Given the description of an element on the screen output the (x, y) to click on. 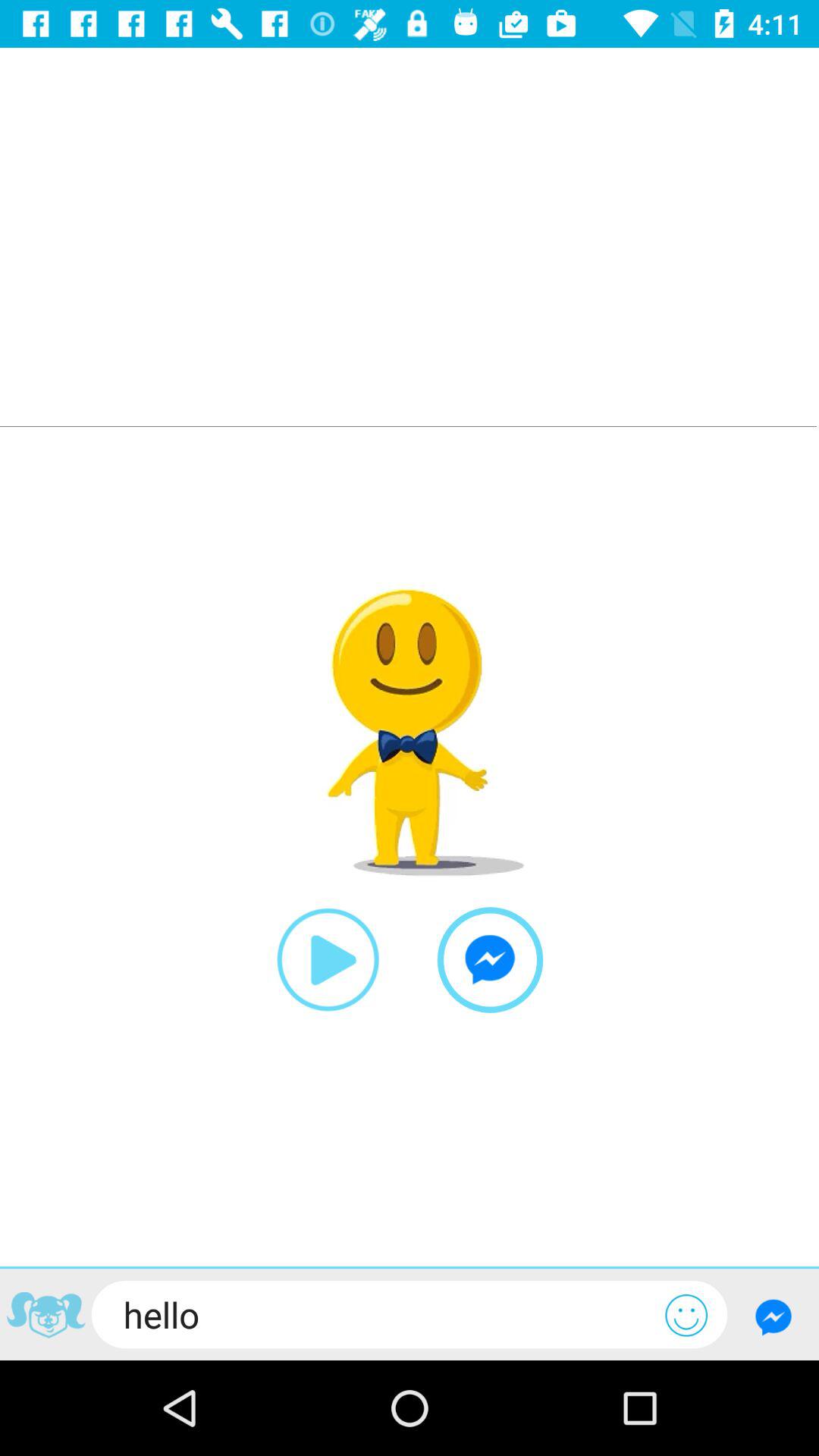
icon or logo (45, 1317)
